Given the description of an element on the screen output the (x, y) to click on. 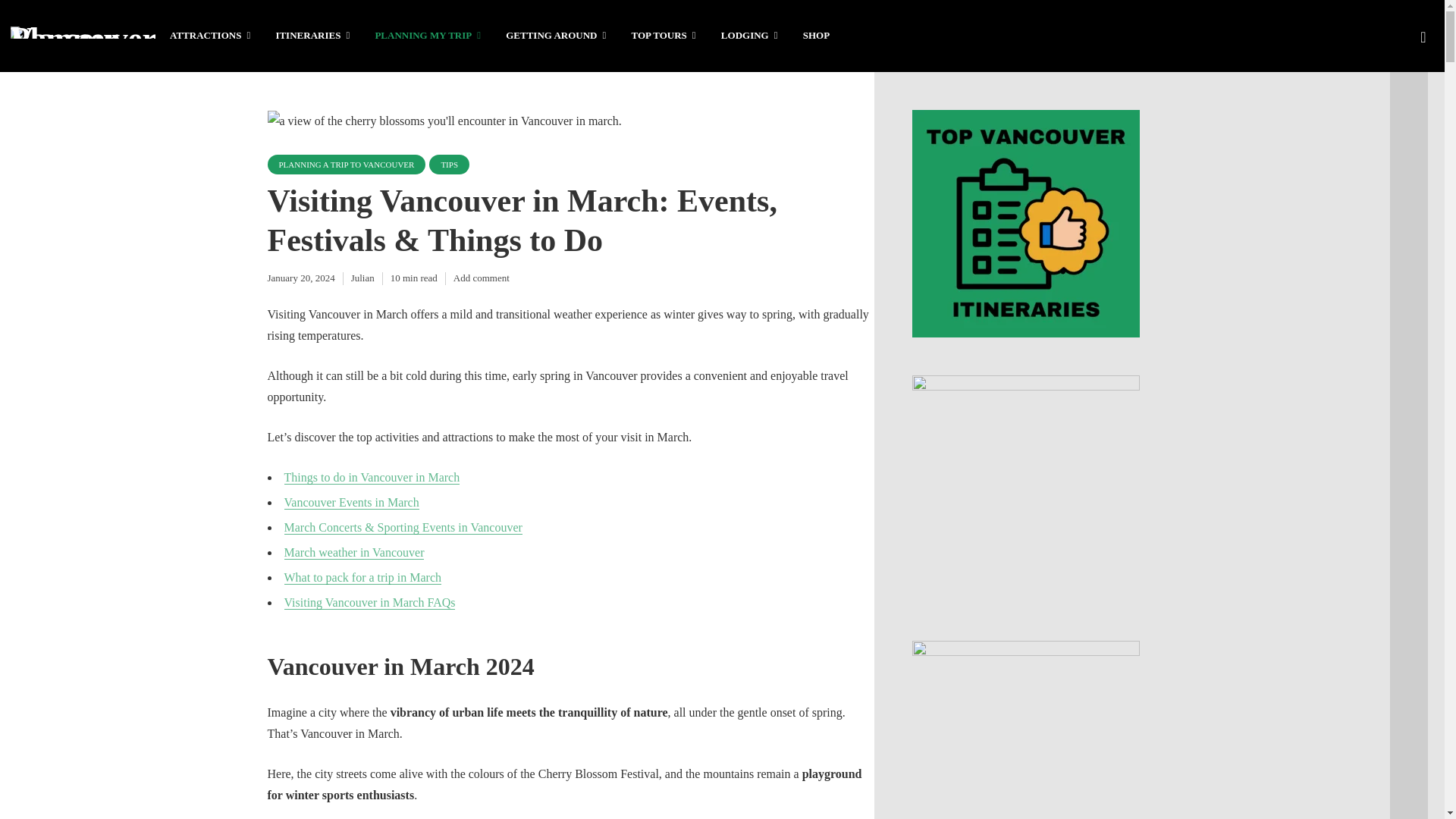
ATTRACTIONS (210, 35)
ITINERARIES (312, 35)
Add comment (480, 277)
